Given the description of an element on the screen output the (x, y) to click on. 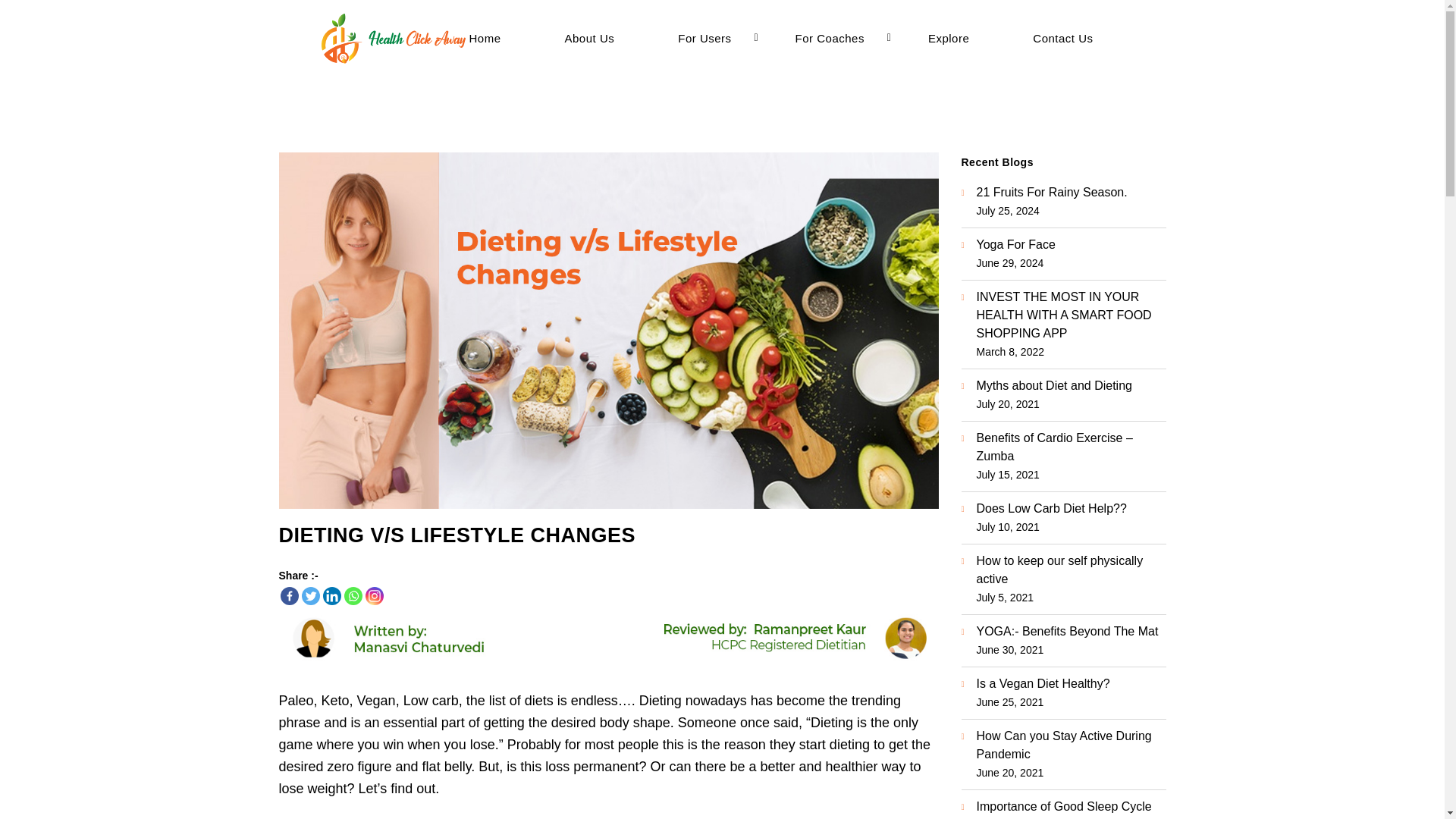
Instagram (374, 596)
Whatsapp (352, 596)
Home (490, 38)
About Us (595, 38)
Explore (953, 38)
For Users (710, 38)
Health Click Away (393, 38)
LinkedIn (331, 596)
Contact Us (1067, 38)
Facebook (289, 596)
Twitter (310, 596)
For Coaches (835, 38)
